Given the description of an element on the screen output the (x, y) to click on. 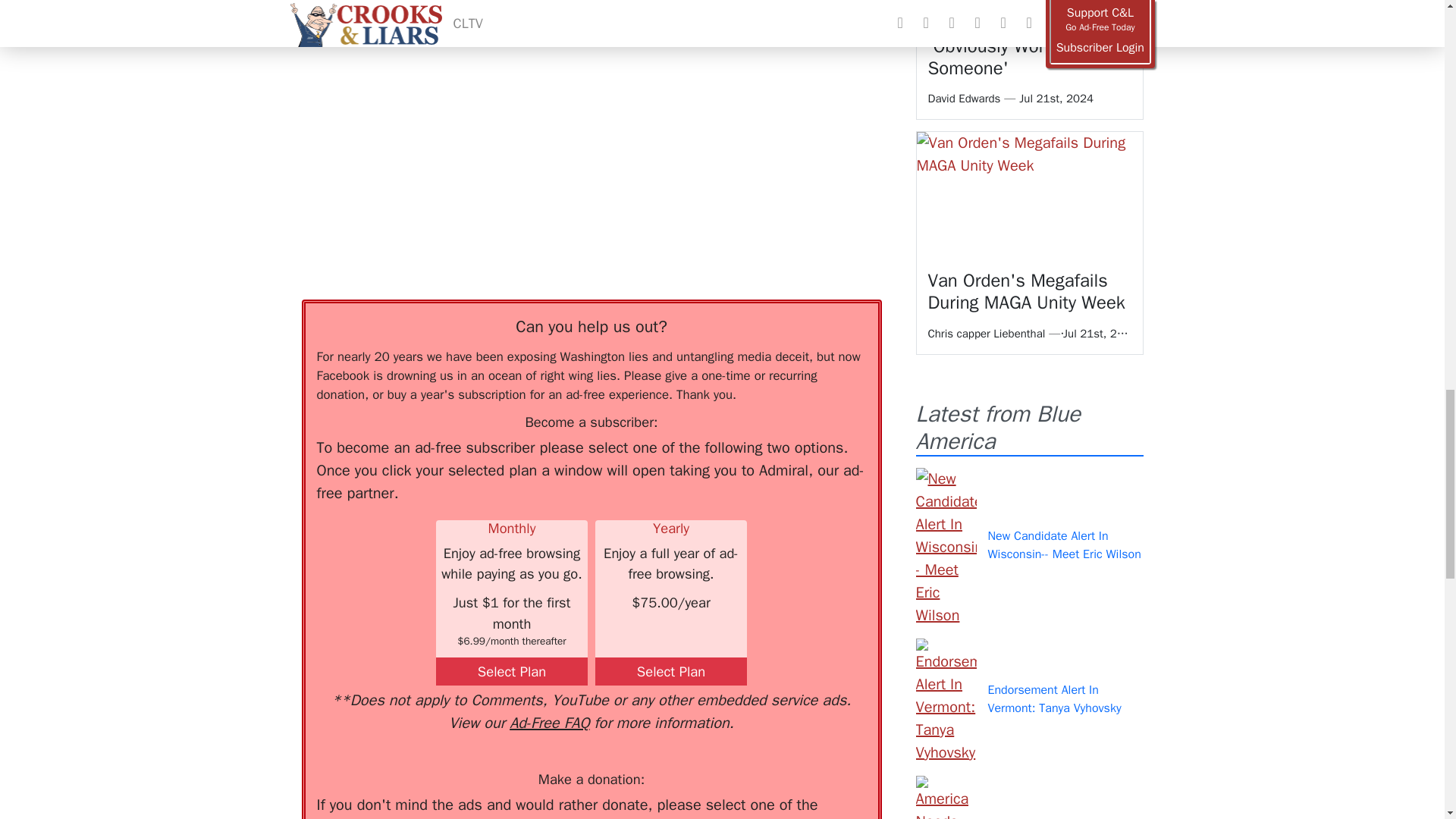
Ad-Free FAQ (549, 722)
